Given the description of an element on the screen output the (x, y) to click on. 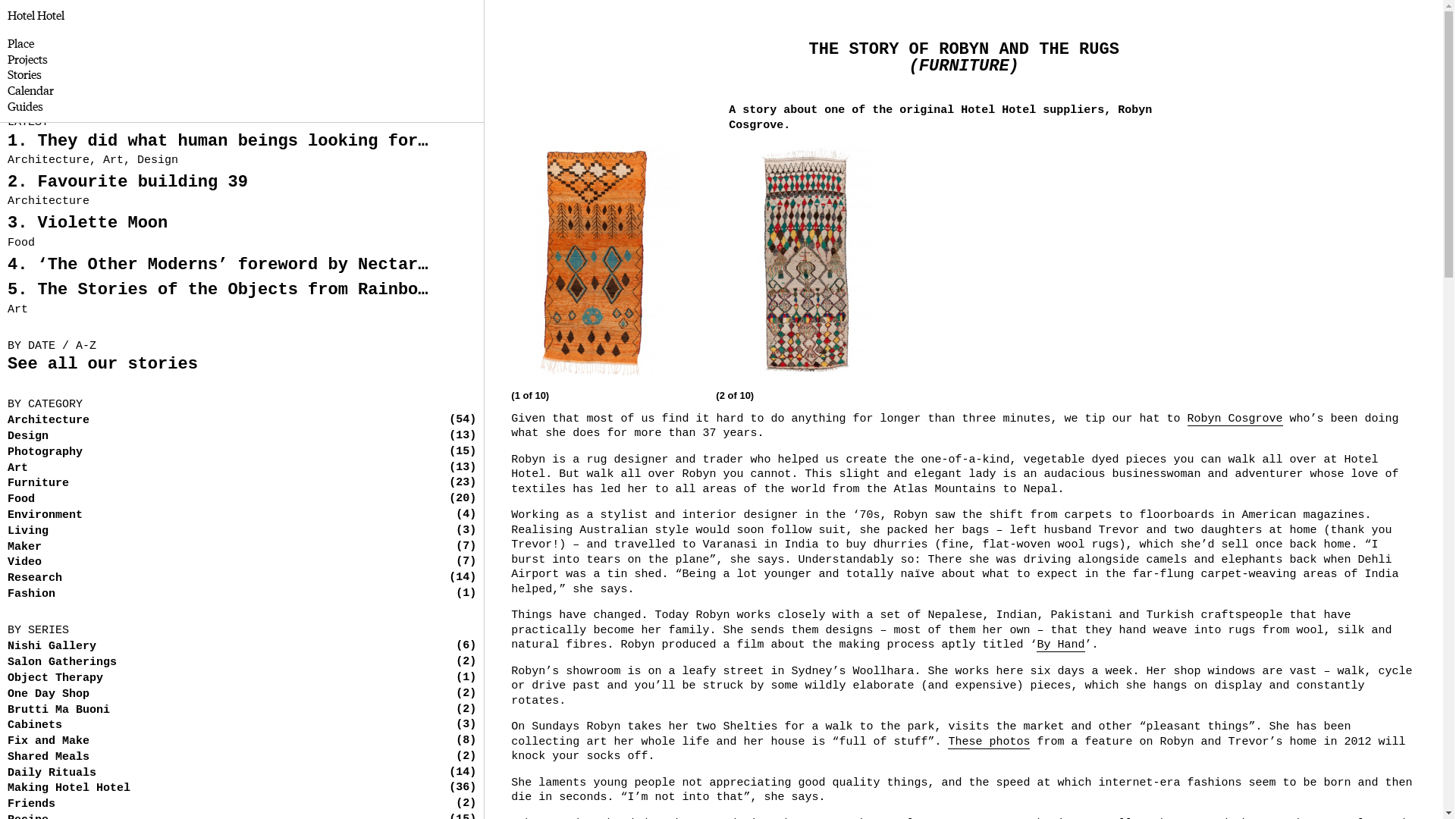
Design
(13) Element type: text (27, 436)
Photography
(15) Element type: text (44, 452)
Salon Gatherings
(2) Element type: text (61, 662)
Food
(20) Element type: text (20, 499)
Friends
(2) Element type: text (31, 804)
Environment
(4) Element type: text (44, 515)
Architecture
(54) Element type: text (48, 420)
Robyn Cosgrove Element type: text (1235, 419)
Guides Element type: text (25, 106)
Research
(14) Element type: text (34, 578)
Cabinets
(3) Element type: text (34, 725)
Projects Element type: text (27, 59)
Fashion
(1) Element type: text (31, 594)
Shared Meals
(2) Element type: text (48, 757)
Brutti Ma Buoni
(2) Element type: text (58, 710)
Nishi Gallery
(6) Element type: text (51, 646)
Fix and Make
(8) Element type: text (48, 741)
Daily Rituals
(14) Element type: text (51, 773)
Maker
(7) Element type: text (24, 547)
Object Therapy
(1) Element type: text (55, 678)
Calendar Element type: text (30, 90)
Living
(3) Element type: text (27, 531)
3. Violette Moon
Food Element type: text (241, 231)
Making Hotel Hotel
(36) Element type: text (68, 788)
By Hand Element type: text (1060, 645)
Video
(7) Element type: text (24, 562)
Furniture
(23) Element type: text (38, 483)
Stories Element type: text (24, 74)
Hotel Hotel Element type: text (35, 15)
One Day Shop
(2) Element type: text (48, 694)
2. Favourite building 39
Architecture Element type: text (241, 190)
Art
(13) Element type: text (17, 468)
See all our stories Element type: text (102, 364)
Place Element type: text (20, 43)
These photos Element type: text (988, 742)
